Given the description of an element on the screen output the (x, y) to click on. 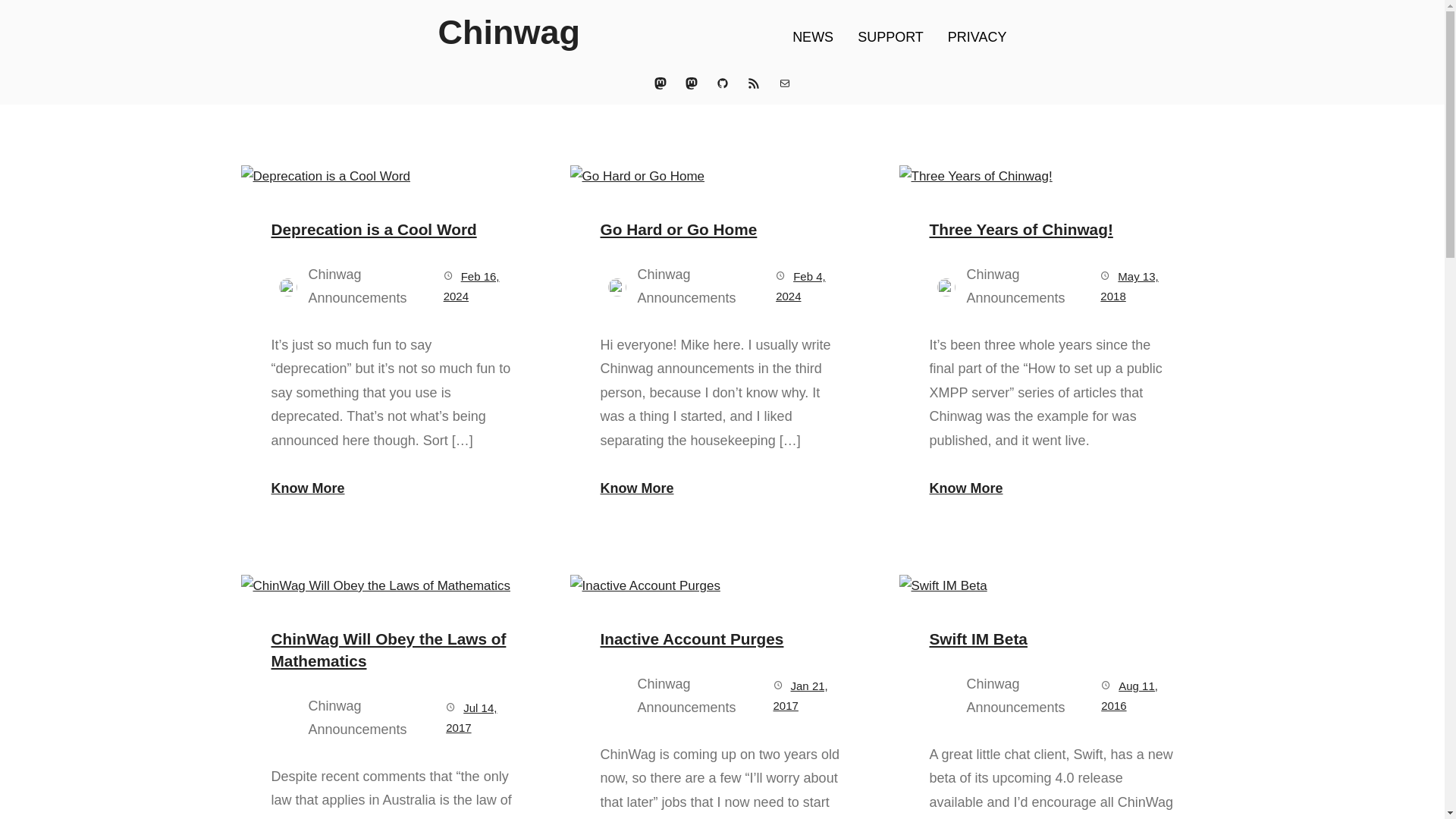
Know More (392, 488)
ChinWag Will Obey the Laws of Mathematics (392, 649)
Mail (783, 82)
Go Hard or Go Home (678, 229)
PRIVACY (977, 37)
Jul 14, 2017 (470, 717)
Swift IM Beta (978, 639)
Three Years of Chinwag! (1021, 229)
GitHub (722, 82)
Jan 21, 2017 (800, 695)
